Given the description of an element on the screen output the (x, y) to click on. 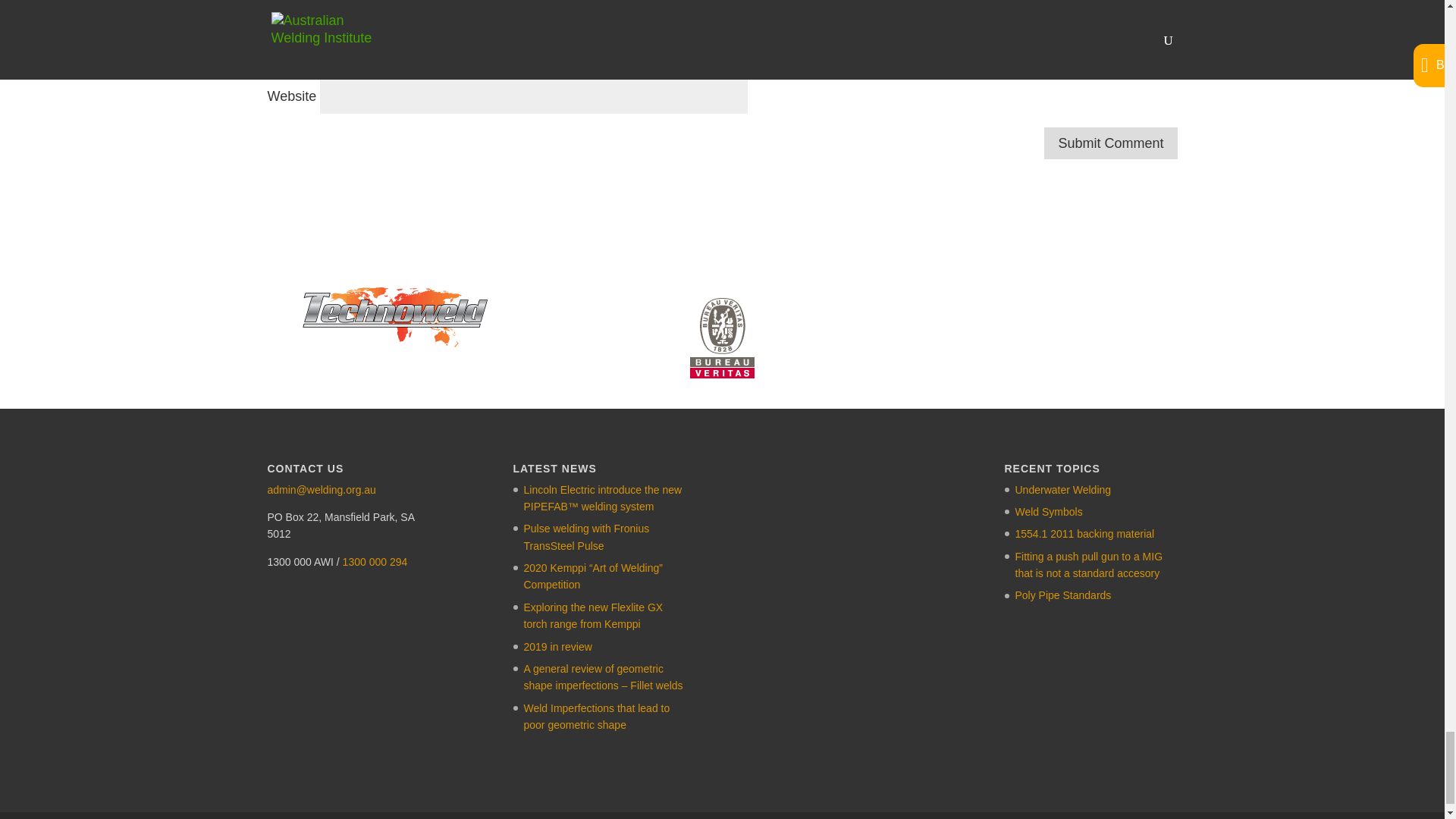
Submit Comment (1109, 142)
